Given the description of an element on the screen output the (x, y) to click on. 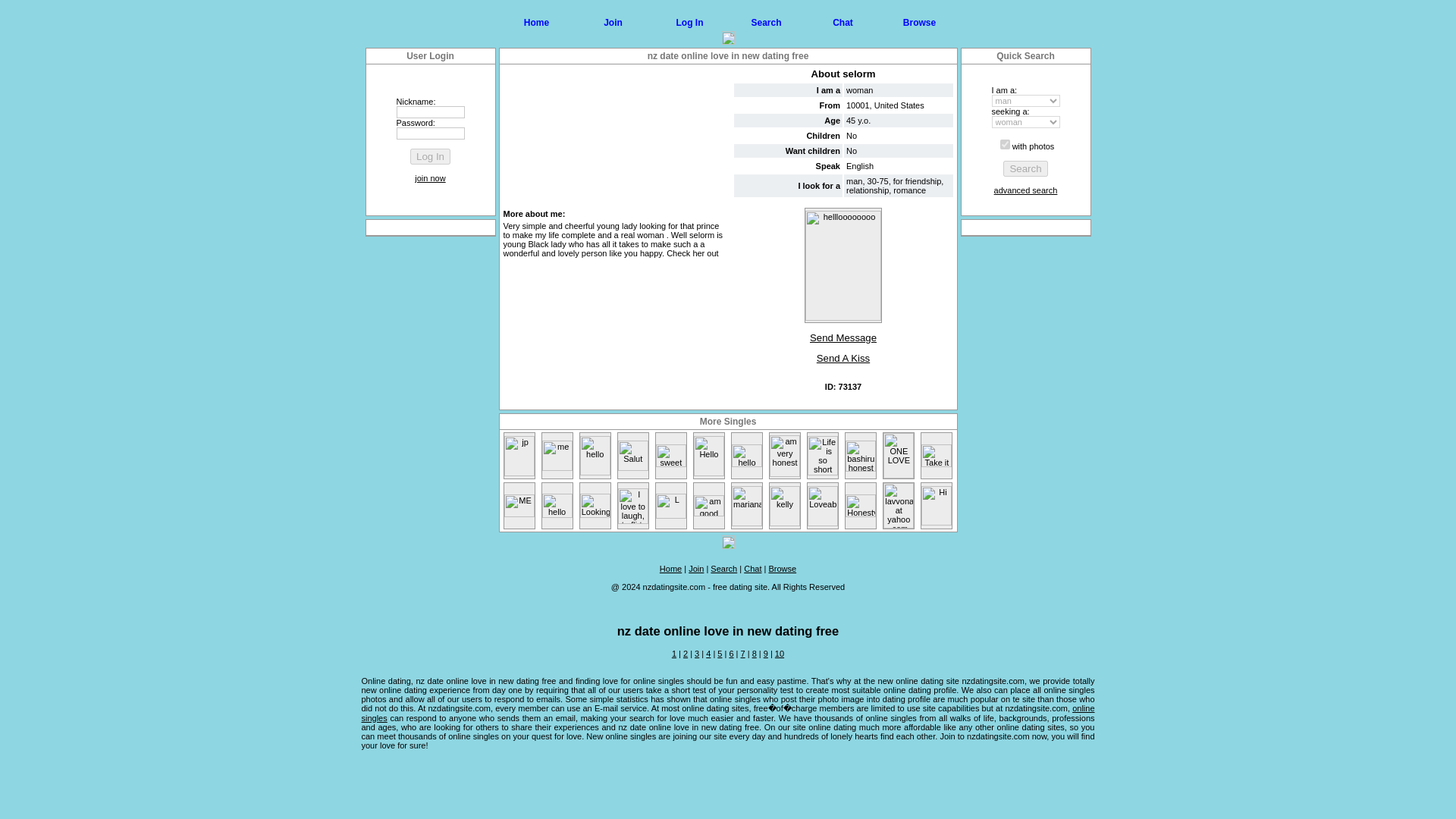
Send A Kiss (842, 358)
Chat (842, 21)
Search (1024, 168)
on (1005, 144)
Send Message (842, 338)
Search (723, 568)
Search (765, 21)
Home (670, 568)
Log In (690, 21)
Browse (919, 21)
Join (613, 21)
Log In (429, 156)
Search (1024, 168)
Home (536, 21)
advanced search (1026, 189)
